Given the description of an element on the screen output the (x, y) to click on. 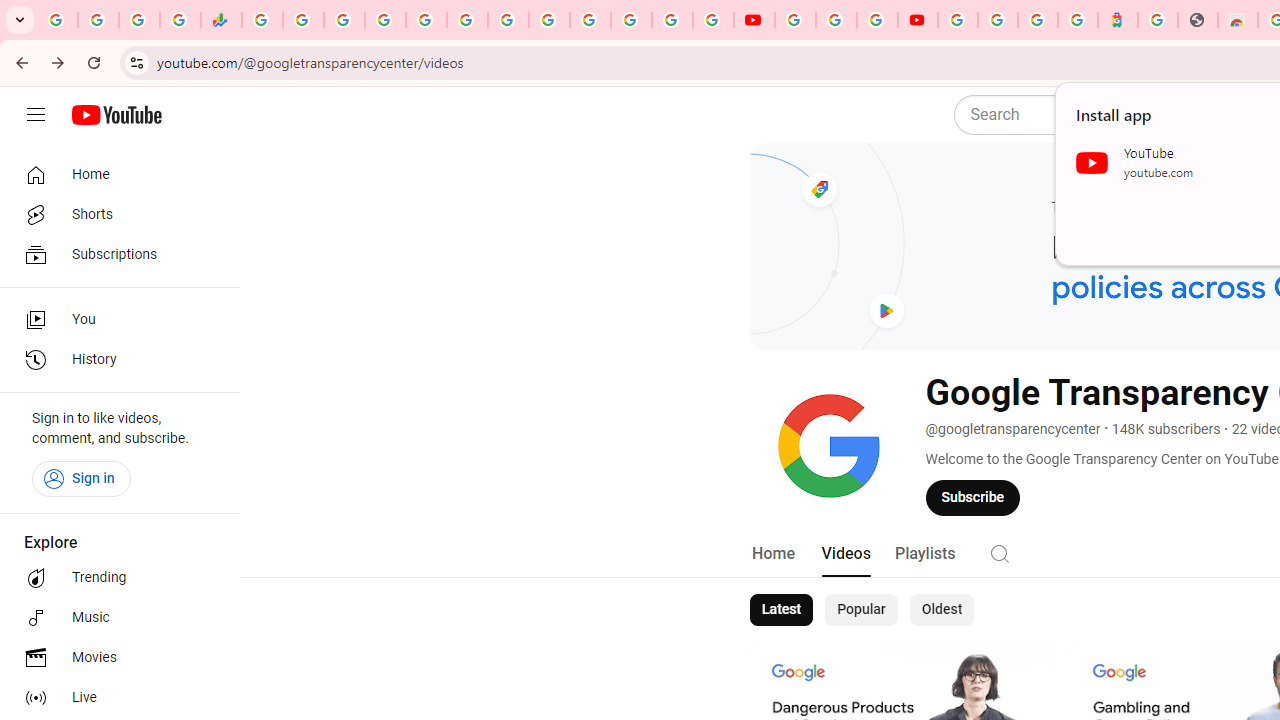
Subscribe (973, 497)
Google Workspace Admin Community (57, 20)
Sign in - Google Accounts (957, 20)
History (113, 359)
Live (113, 697)
Trending (113, 578)
Android TV Policies and Guidelines - Transparency Center (507, 20)
Videos (845, 553)
YouTube Home (116, 115)
Create your Google Account (877, 20)
Popular (861, 609)
